Given the description of an element on the screen output the (x, y) to click on. 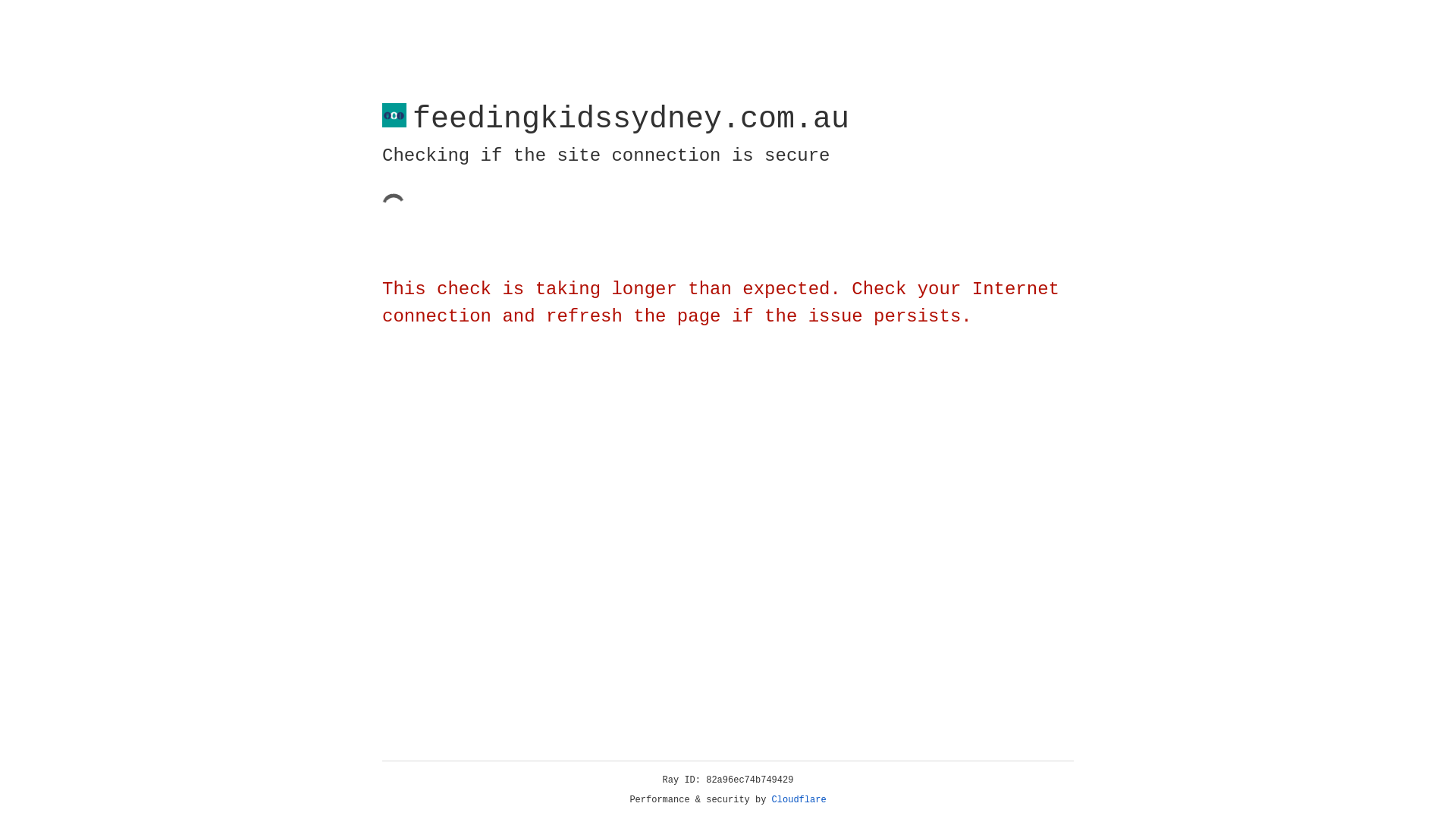
Cloudflare Element type: text (798, 799)
